Given the description of an element on the screen output the (x, y) to click on. 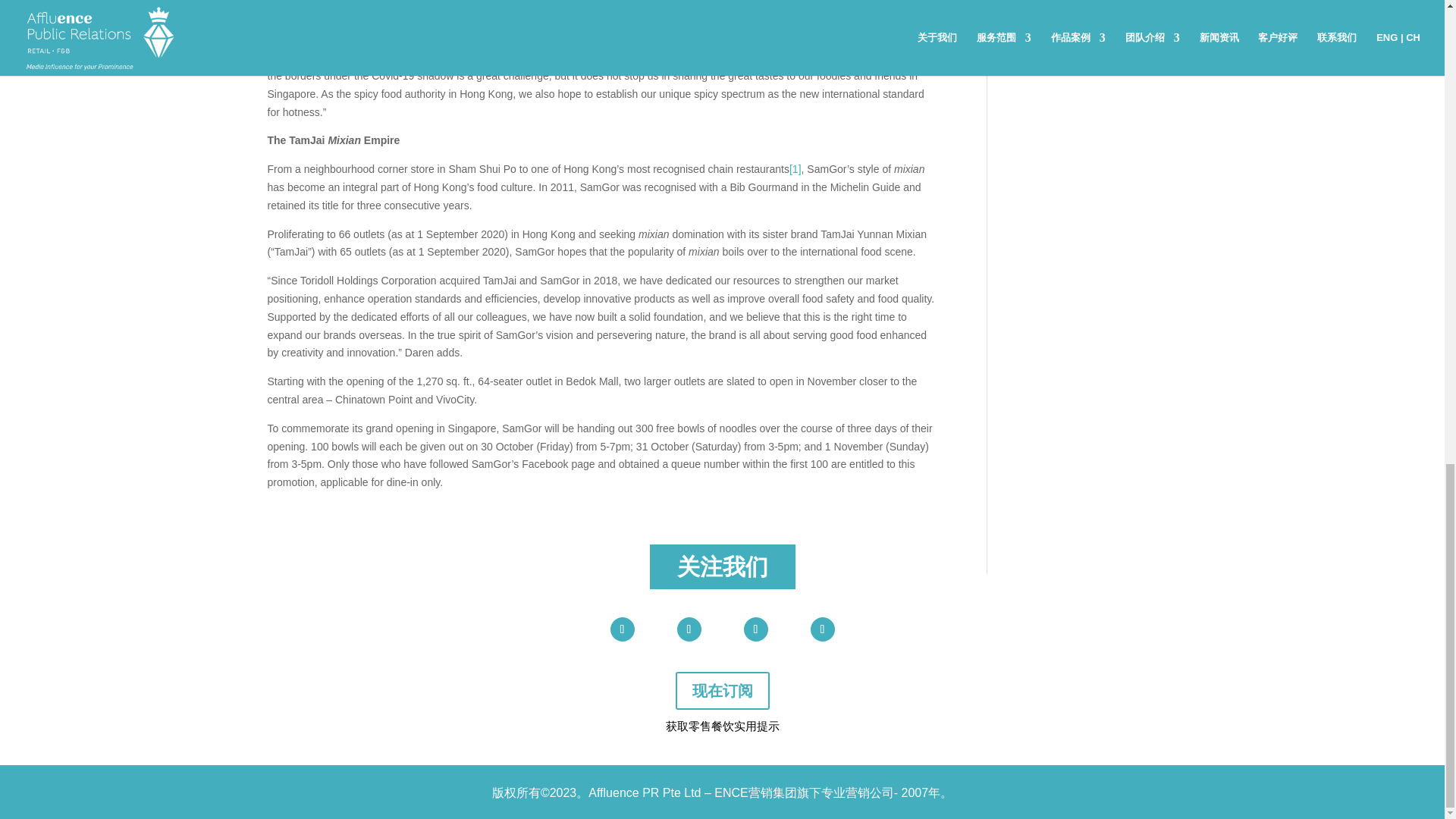
Follow on Instagram (821, 629)
Follow on Facebook (688, 629)
Follow on Youtube (621, 629)
Follow on LinkedIn (754, 629)
